Given the description of an element on the screen output the (x, y) to click on. 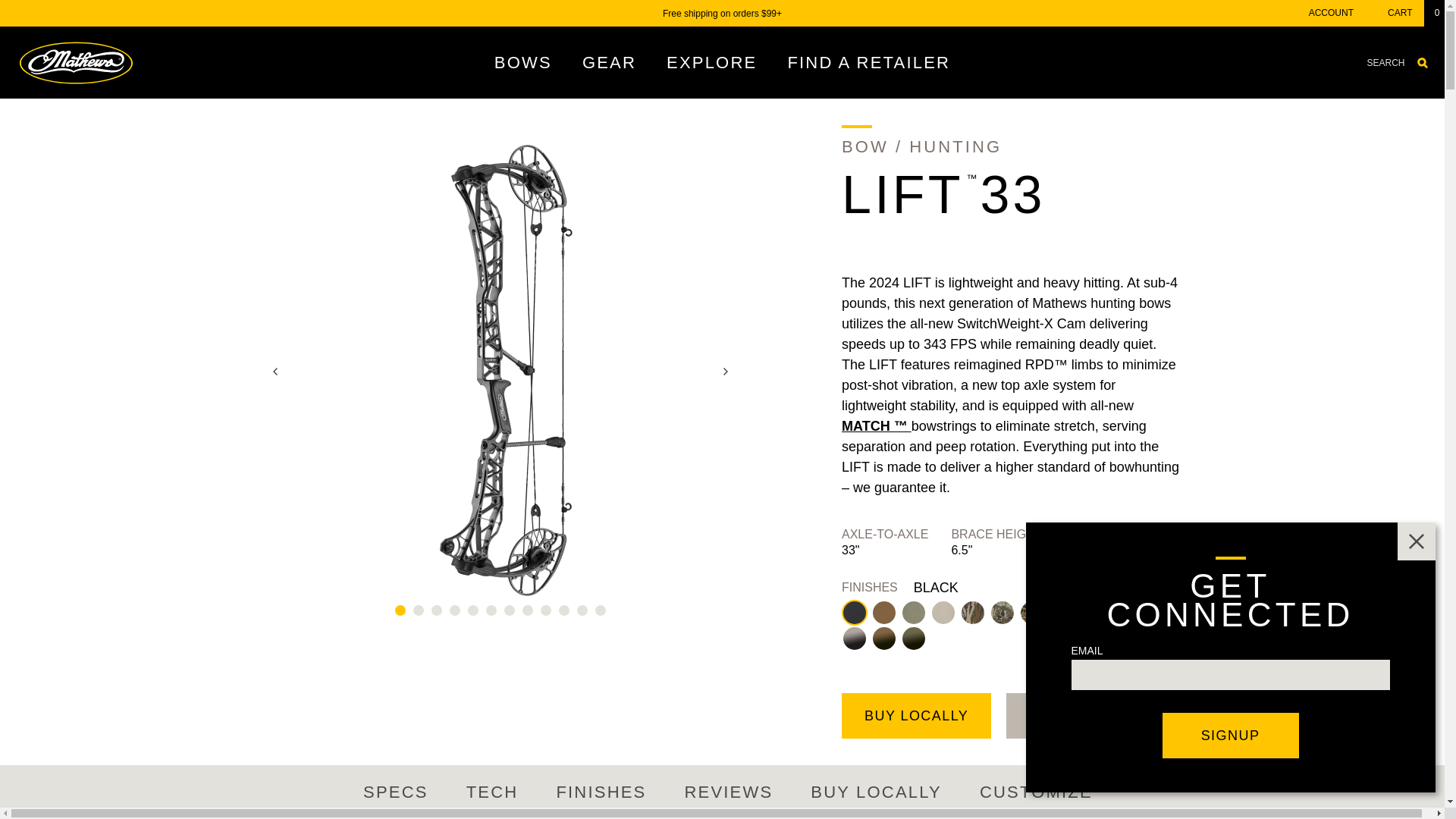
GEAR (608, 62)
Mathews Archery (74, 62)
BOWS (523, 62)
